Given the description of an element on the screen output the (x, y) to click on. 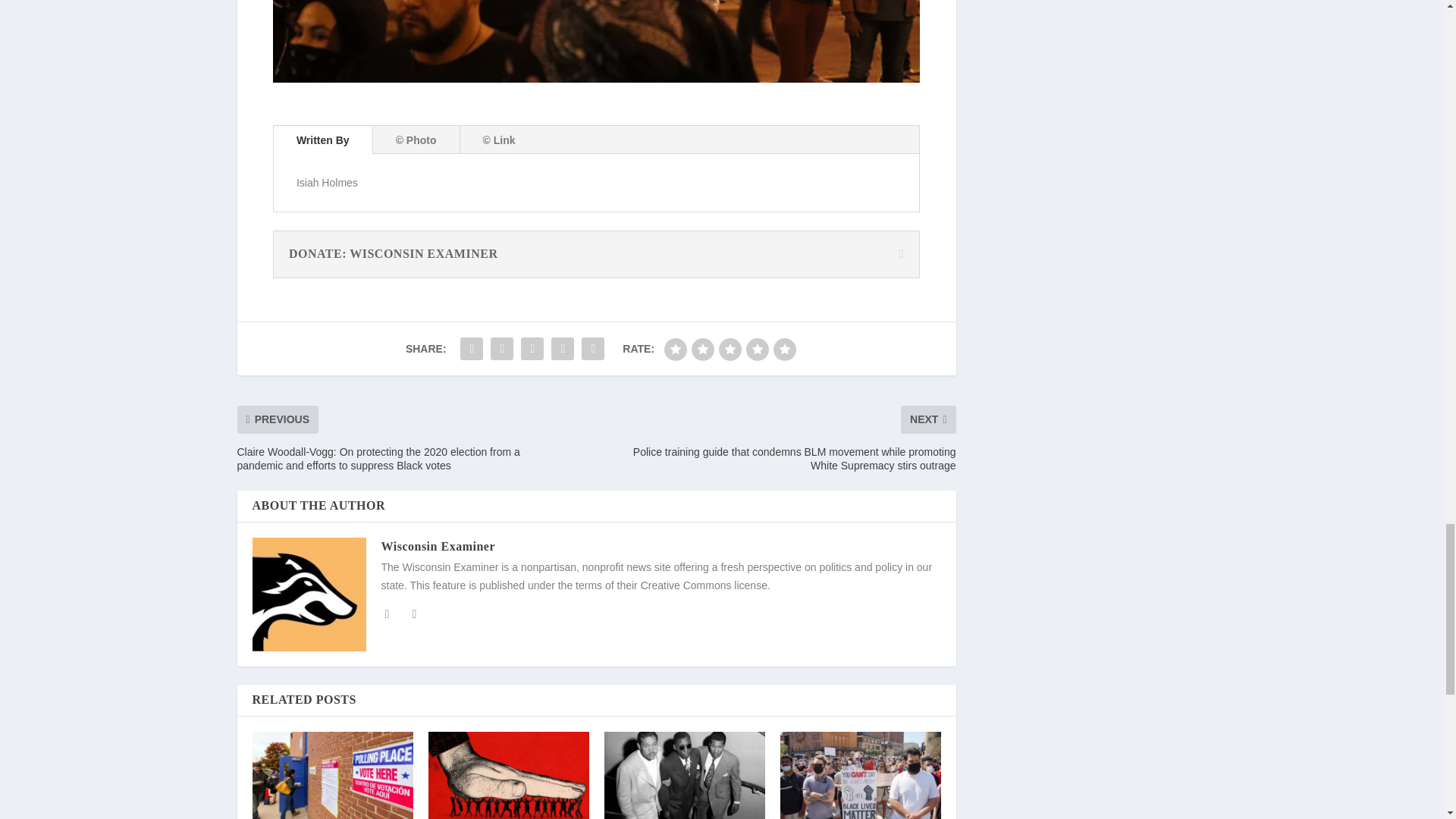
poor (702, 349)
bad (675, 349)
View all posts by Wisconsin Examiner (437, 545)
gorgeous (784, 349)
regular (730, 349)
good (756, 349)
